Given the description of an element on the screen output the (x, y) to click on. 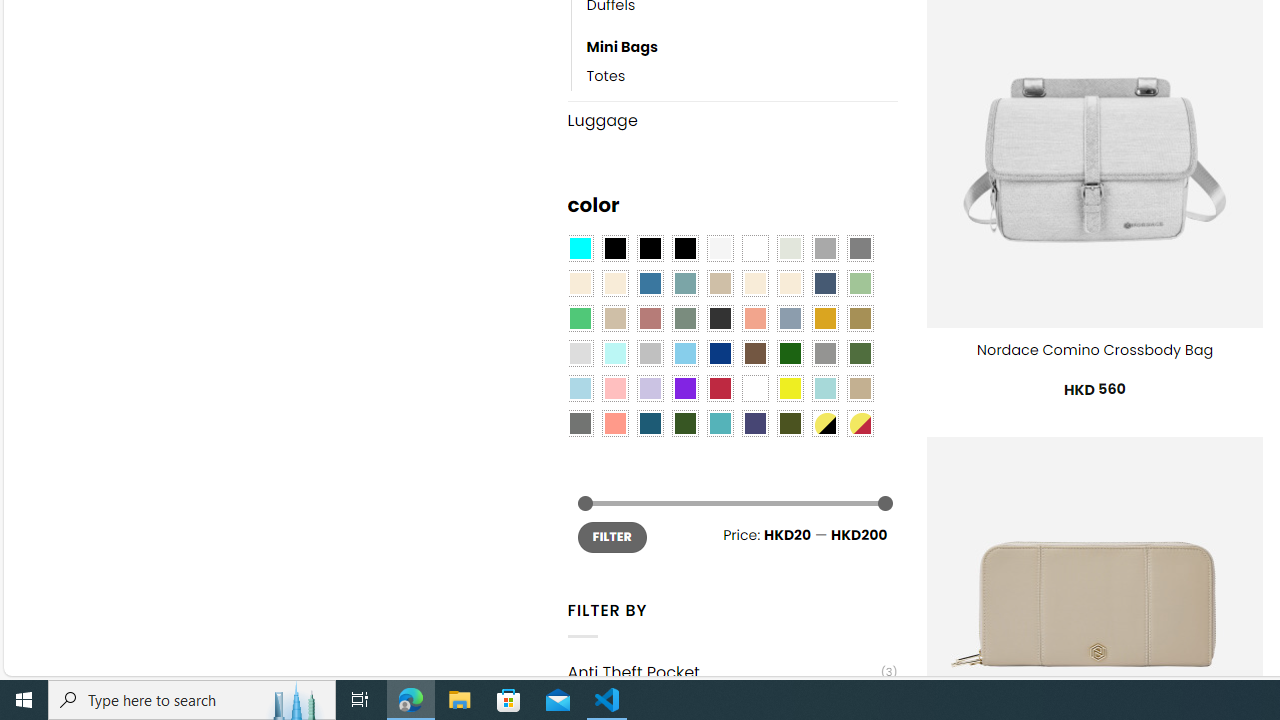
Yellow-Black (824, 424)
Sage (684, 318)
Light Green (859, 283)
Pearly White (719, 249)
Green (859, 354)
Emerald Green (579, 318)
All Gray (859, 249)
Nordace Comino Crossbody Bag (1094, 350)
Yellow (789, 388)
Red (719, 388)
Anti Theft Pocket(3) (732, 672)
Totes (605, 76)
Dusty Blue (789, 318)
White (755, 388)
Mini Bags (622, 48)
